Given the description of an element on the screen output the (x, y) to click on. 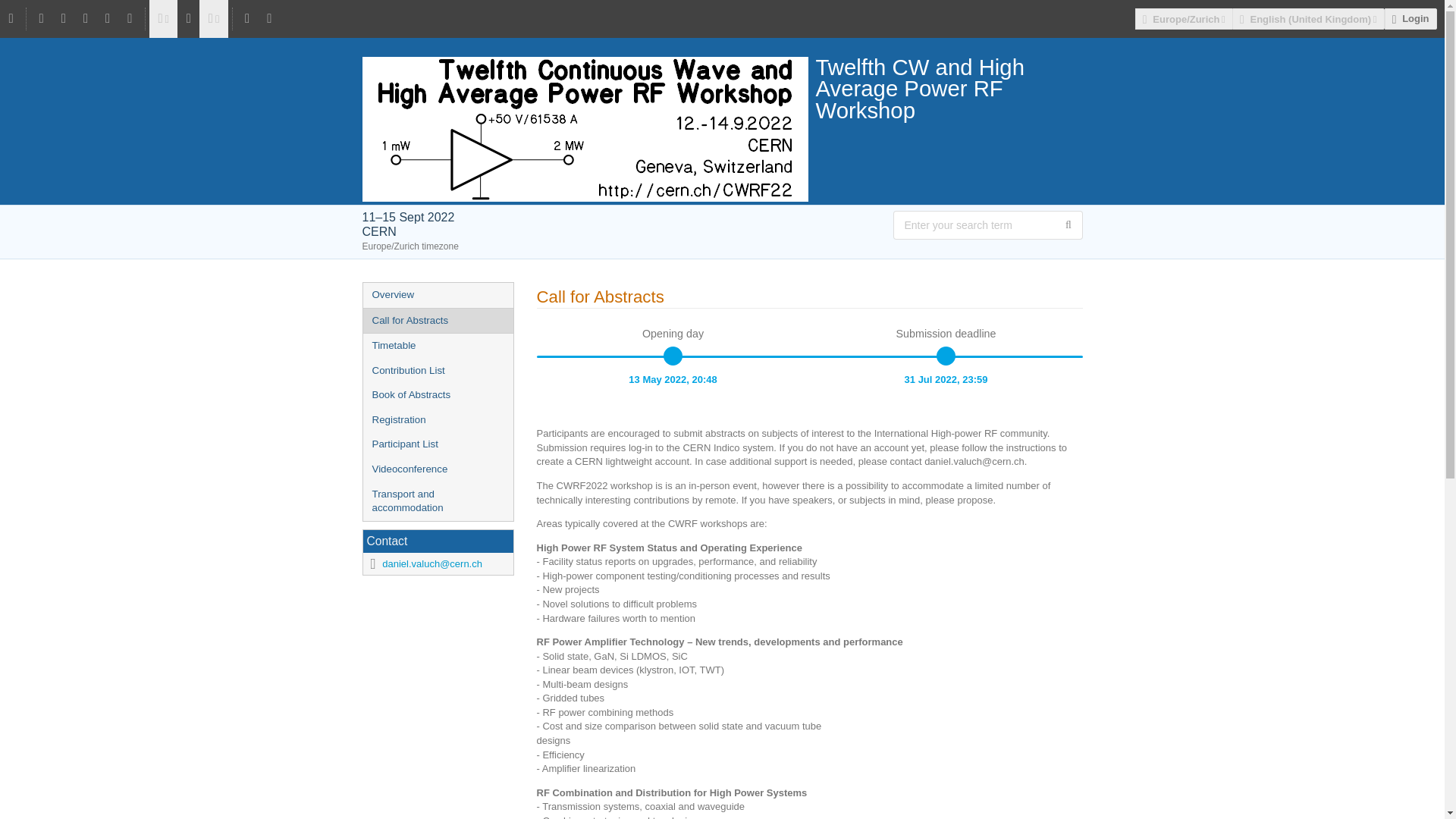
Overview (437, 294)
Call for Abstracts (437, 320)
Twelfth CW and High Average Power RF Workshop (722, 88)
Login (1410, 19)
Timetable (437, 345)
